Given the description of an element on the screen output the (x, y) to click on. 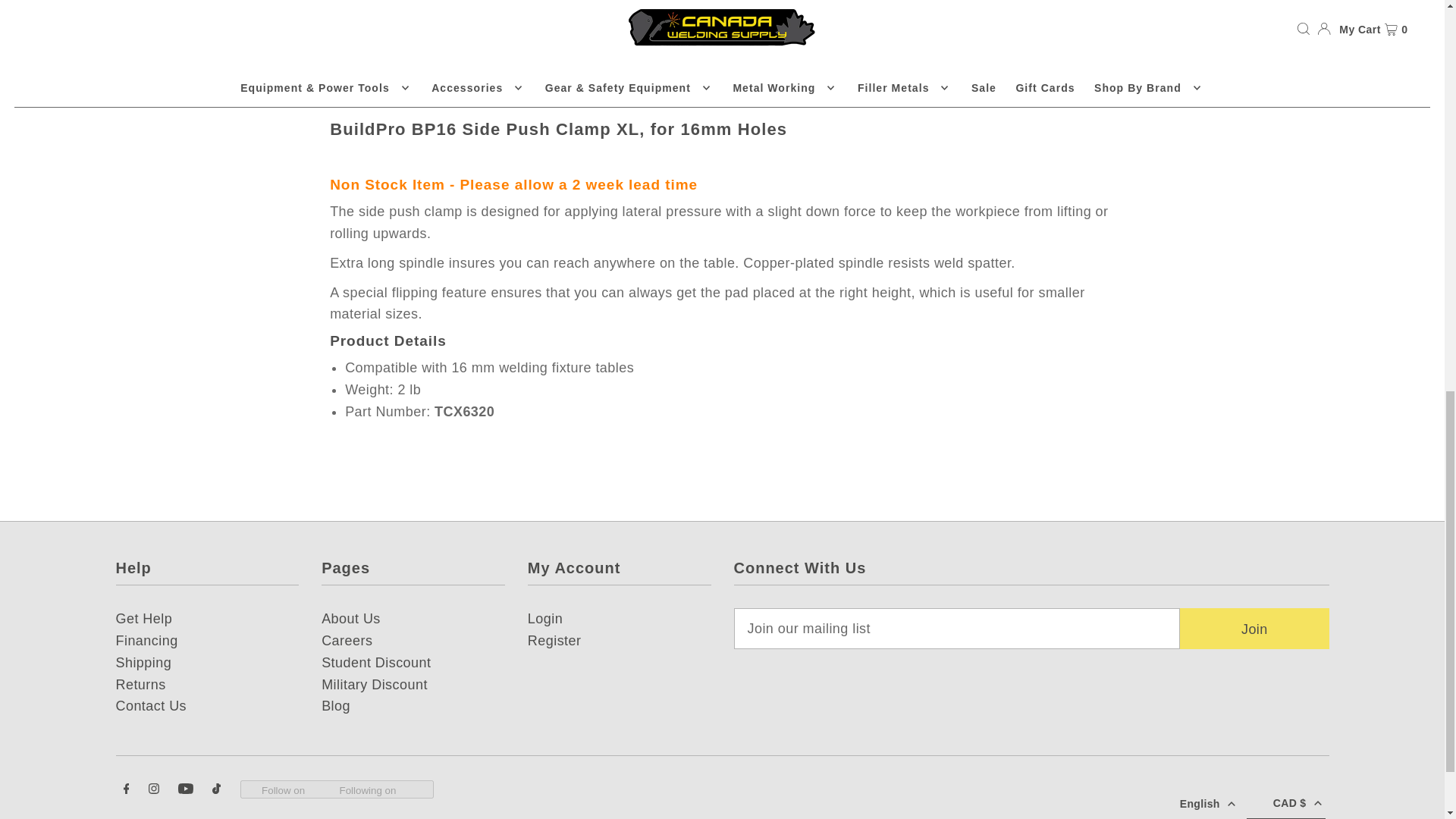
Tiktok (216, 789)
Join (1253, 628)
